Given the description of an element on the screen output the (x, y) to click on. 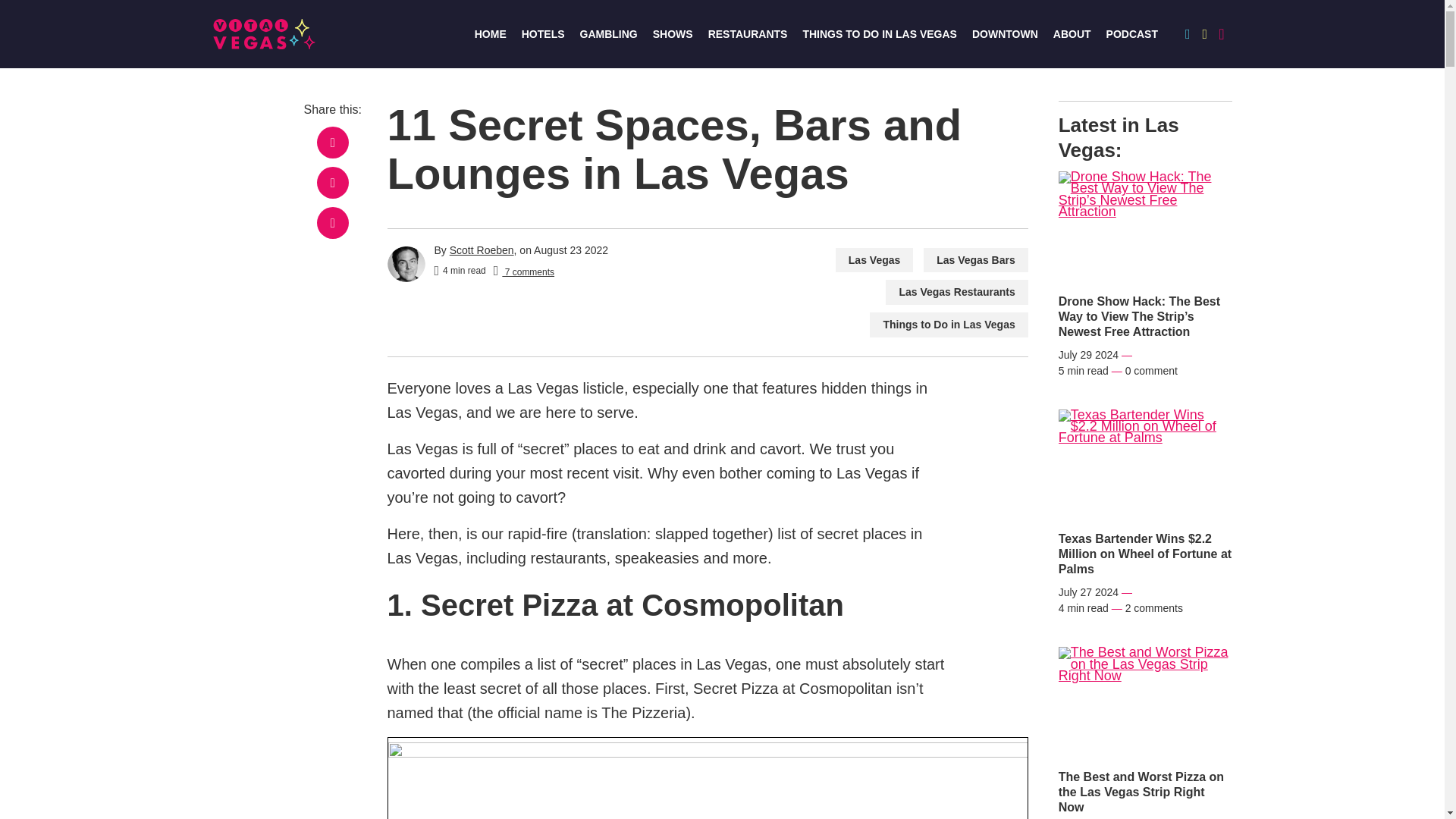
HOTELS (542, 33)
Things to Do in Las Vegas (948, 324)
7 comments (523, 271)
SHOWS (672, 33)
PODCAST (1131, 33)
GAMBLING (608, 33)
Las Vegas Bars (975, 260)
Las Vegas (874, 260)
RESTAURANTS (747, 33)
THINGS TO DO IN LAS VEGAS (879, 33)
DOWNTOWN (1005, 33)
HOME (490, 33)
ABOUT (1071, 33)
Las Vegas Restaurants (956, 292)
Scott Roeben (481, 250)
